Given the description of an element on the screen output the (x, y) to click on. 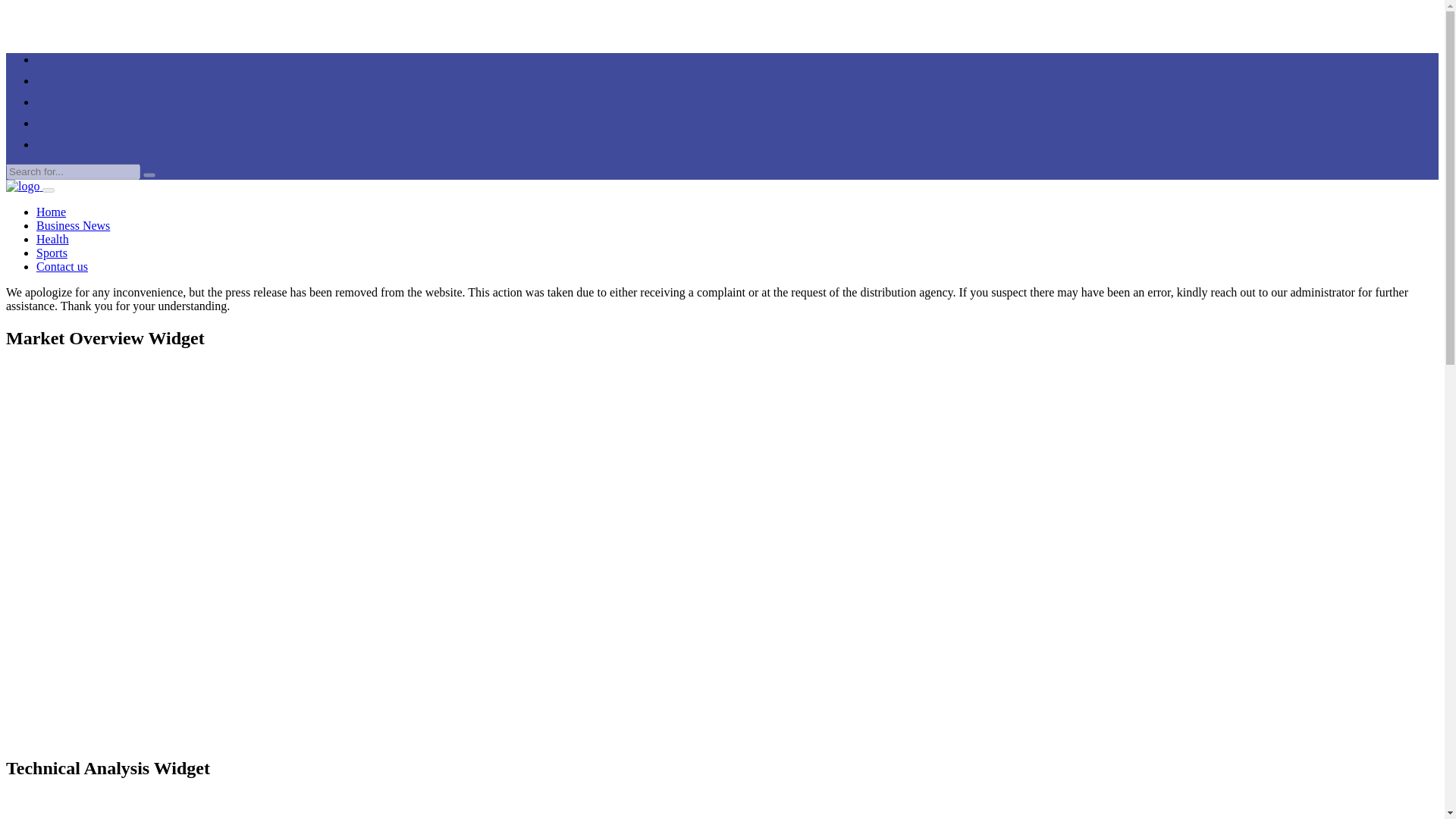
Business News (73, 225)
Health (52, 238)
Home (50, 211)
Sports (51, 252)
Contact us (61, 266)
